Given the description of an element on the screen output the (x, y) to click on. 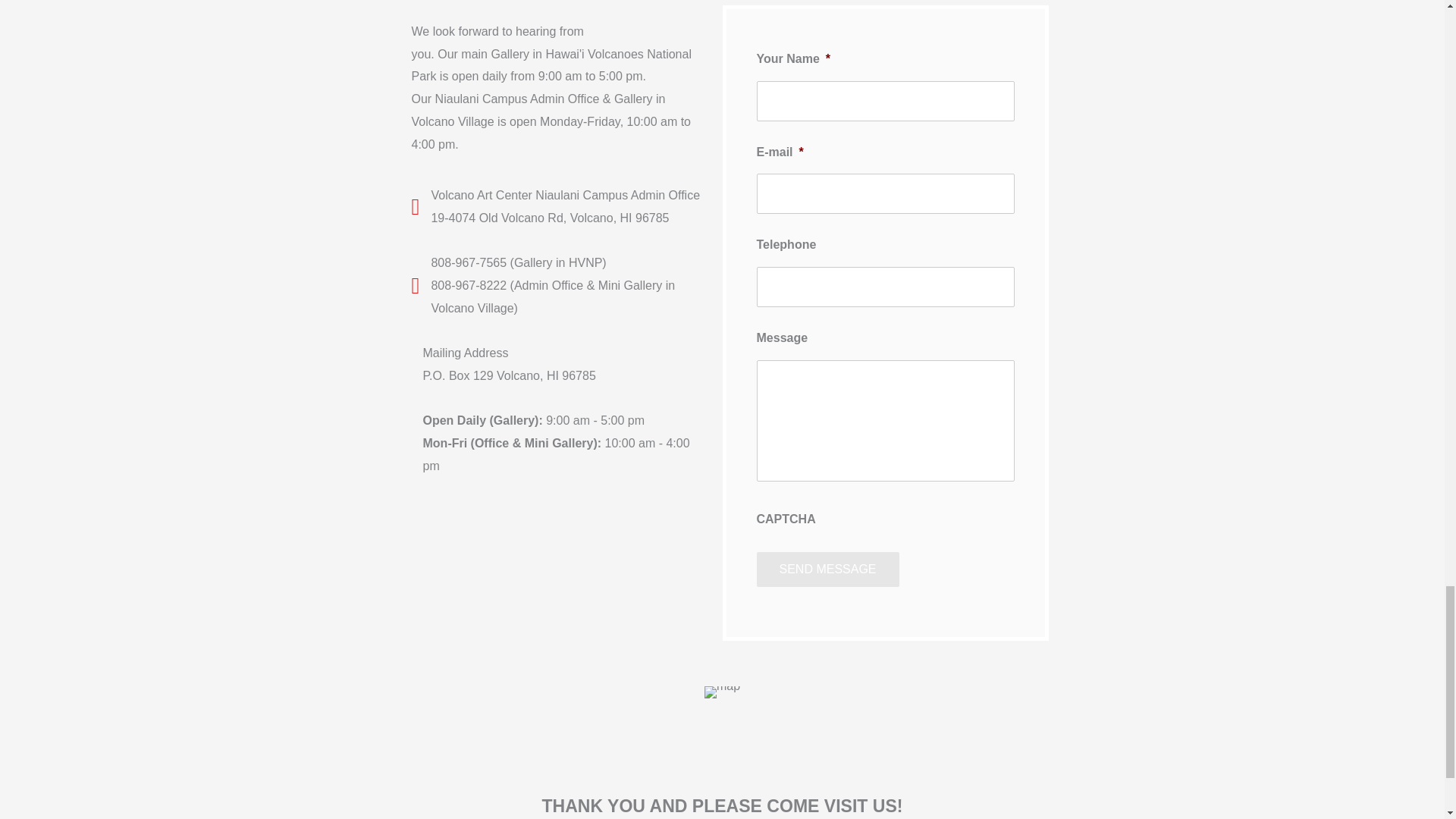
map (721, 692)
SEND MESSAGE (828, 569)
